Given the description of an element on the screen output the (x, y) to click on. 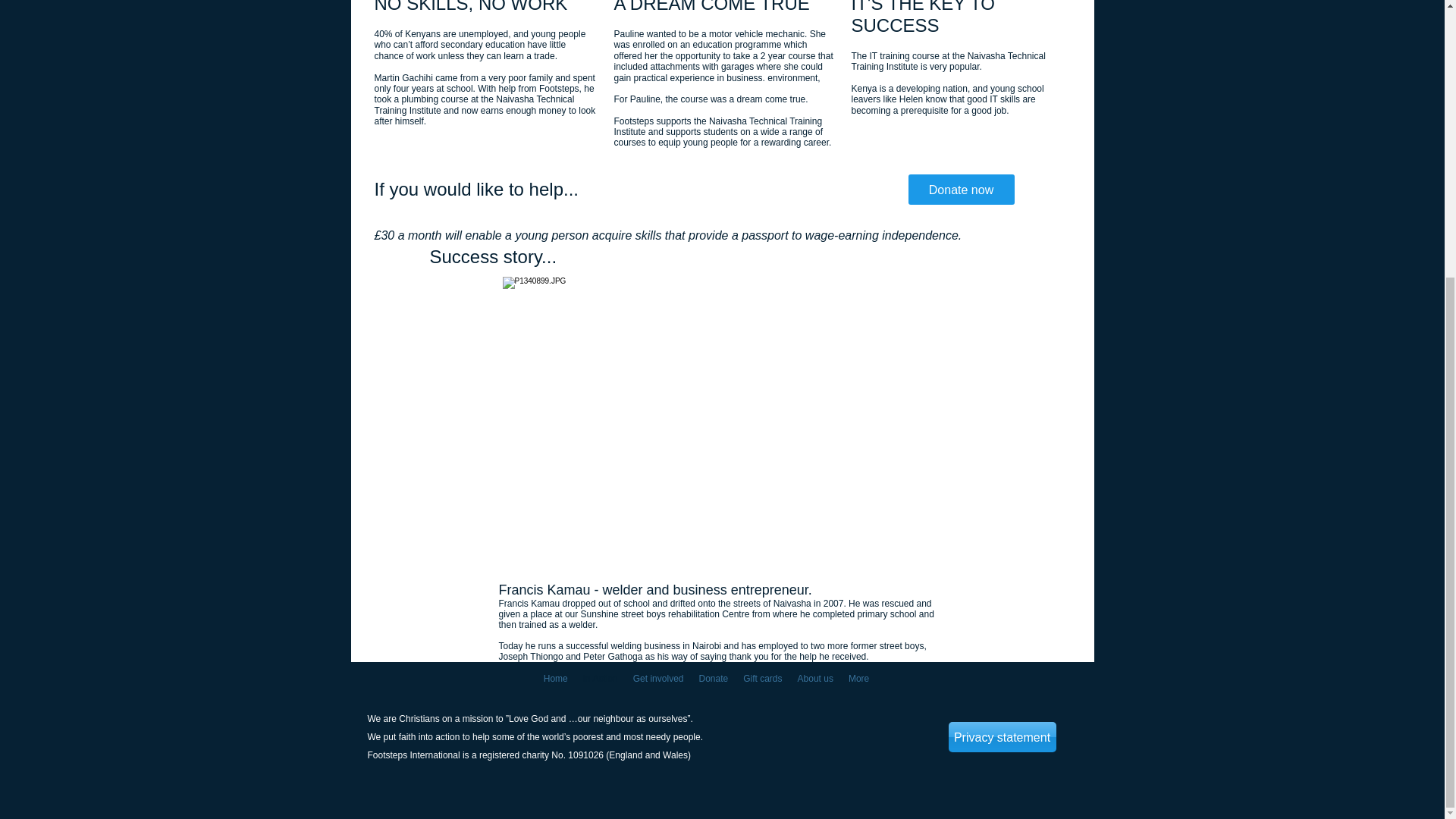
Gift cards (762, 683)
In Action (600, 683)
Get involved (658, 683)
Home (555, 683)
Donate (712, 683)
Donate now (961, 189)
